Given the description of an element on the screen output the (x, y) to click on. 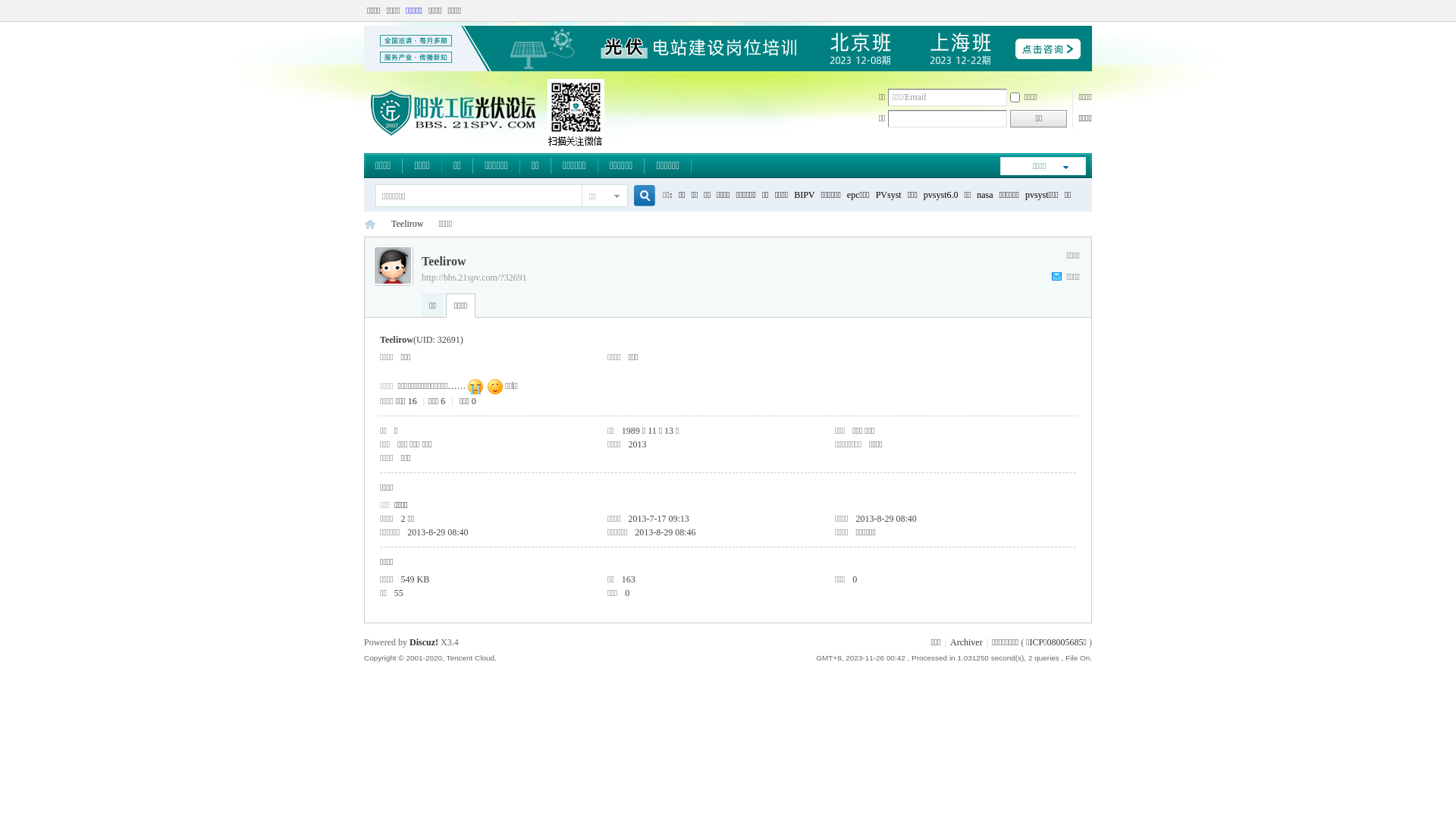
Archiver Element type: text (966, 642)
http://bbs.21spv.com/?32691 Element type: text (474, 277)
BIPV Element type: text (803, 194)
pvsyst6.0 Element type: text (940, 194)
Discuz! Element type: text (423, 642)
Teelirow Element type: text (407, 224)
nasa Element type: text (984, 194)
true Element type: text (638, 195)
PVsyst Element type: text (888, 194)
